Given the description of an element on the screen output the (x, y) to click on. 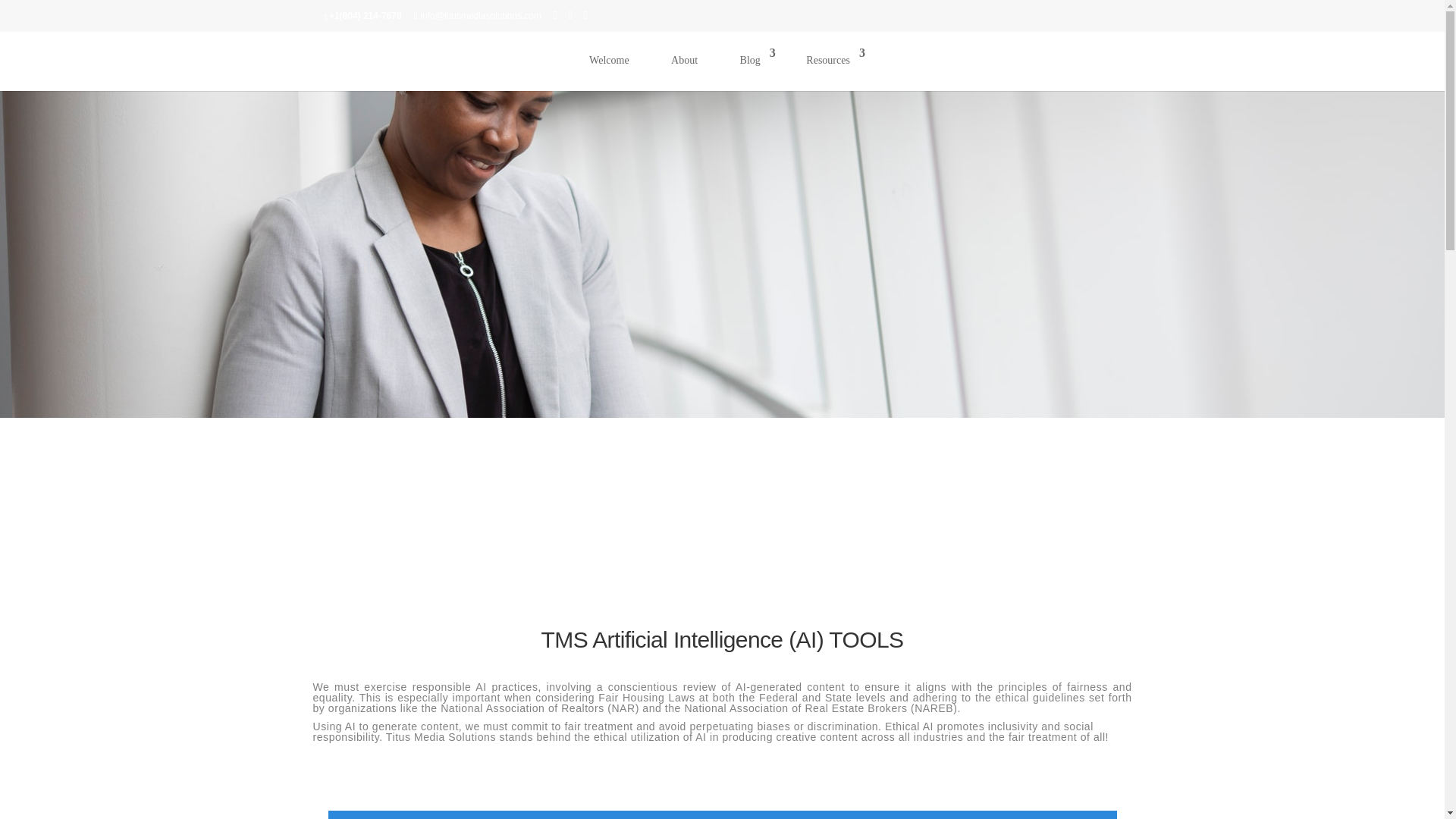
Resources (829, 68)
Welcome to the home of solutions. (609, 68)
Welcome (609, 68)
About (684, 68)
Blog (752, 68)
